Given the description of an element on the screen output the (x, y) to click on. 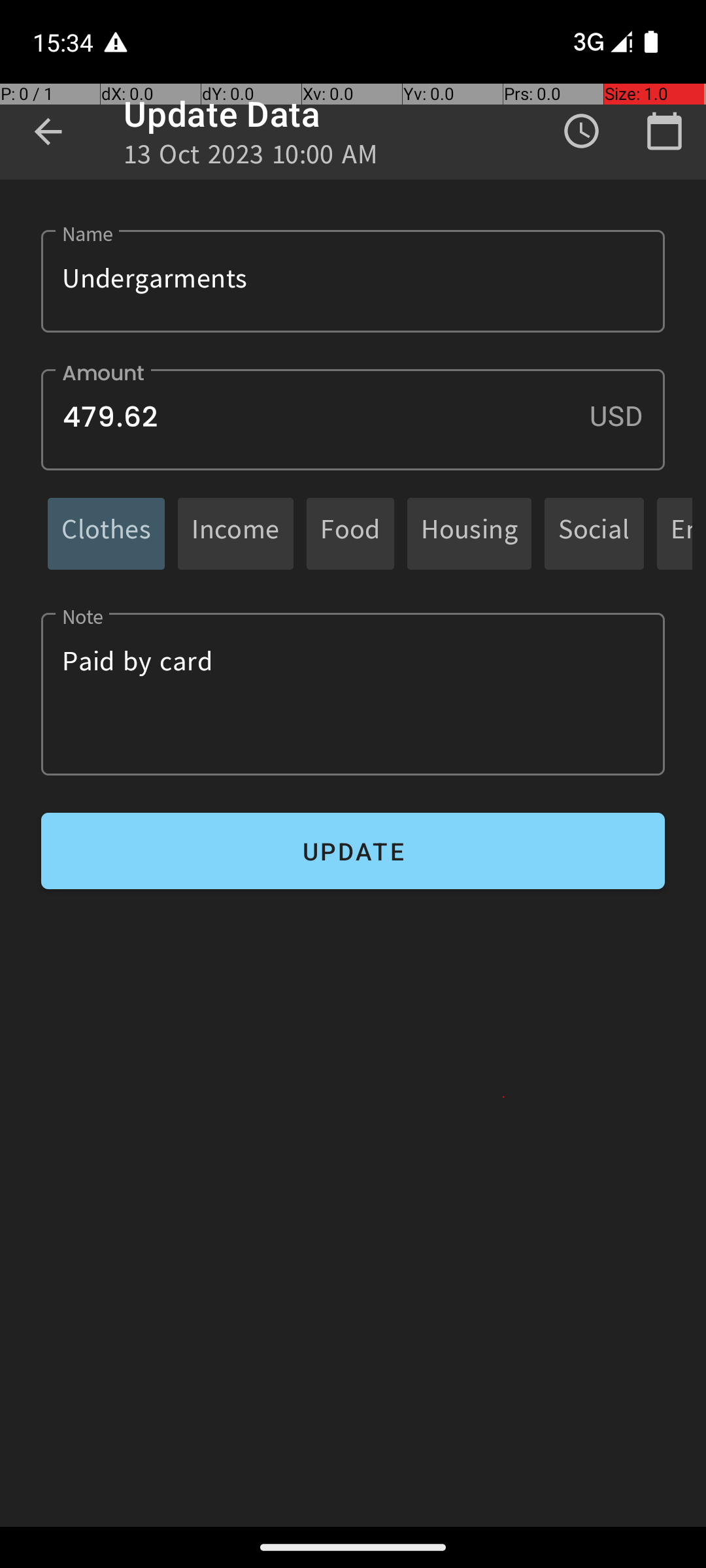
Update Data Element type: android.widget.TextView (221, 113)
13 Oct 2023 10:00 AM Element type: android.widget.TextView (250, 157)
Time Element type: android.widget.TextView (580, 131)
Calendar Element type: android.widget.TextView (664, 131)
Undergarments Element type: android.widget.EditText (352, 280)
479.62 Element type: android.widget.EditText (352, 419)
USD Element type: android.widget.TextView (626, 415)
Paid by card Element type: android.widget.EditText (352, 693)
UPDATE Element type: android.widget.Button (352, 850)
Clothes Element type: android.widget.TextView (106, 533)
Income Element type: android.widget.TextView (235, 533)
Food Element type: android.widget.TextView (350, 533)
Housing Element type: android.widget.TextView (468, 533)
Social Element type: android.widget.TextView (594, 533)
Entertainment Element type: android.widget.TextView (681, 533)
